Given the description of an element on the screen output the (x, y) to click on. 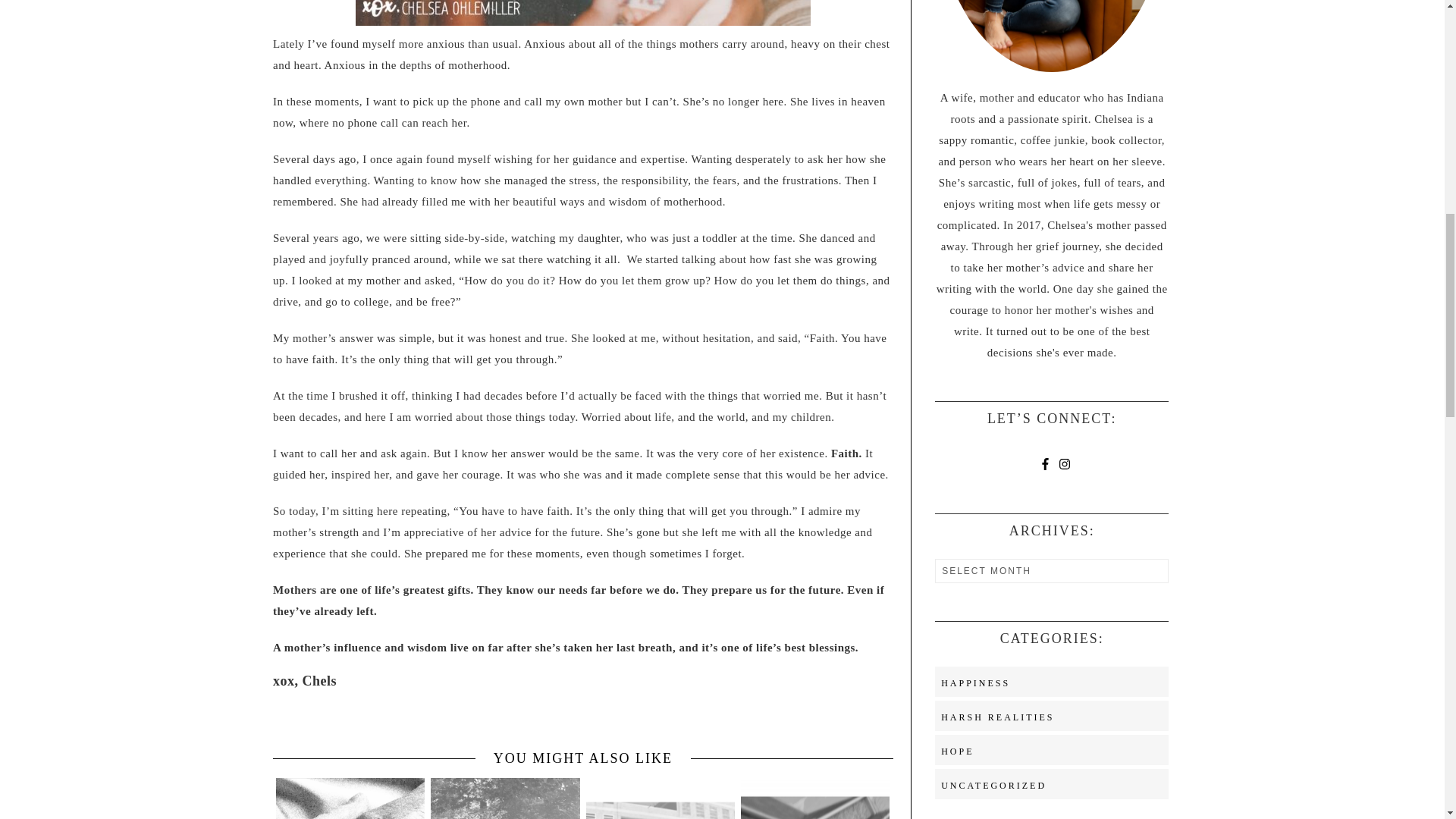
HARSH REALITIES (997, 716)
HAPPINESS (975, 683)
HOPE (957, 751)
WEATHERING THE STORM OF GRIEF (504, 798)
HOSPITAL (660, 794)
UNCATEGORIZED (993, 785)
